Given the description of an element on the screen output the (x, y) to click on. 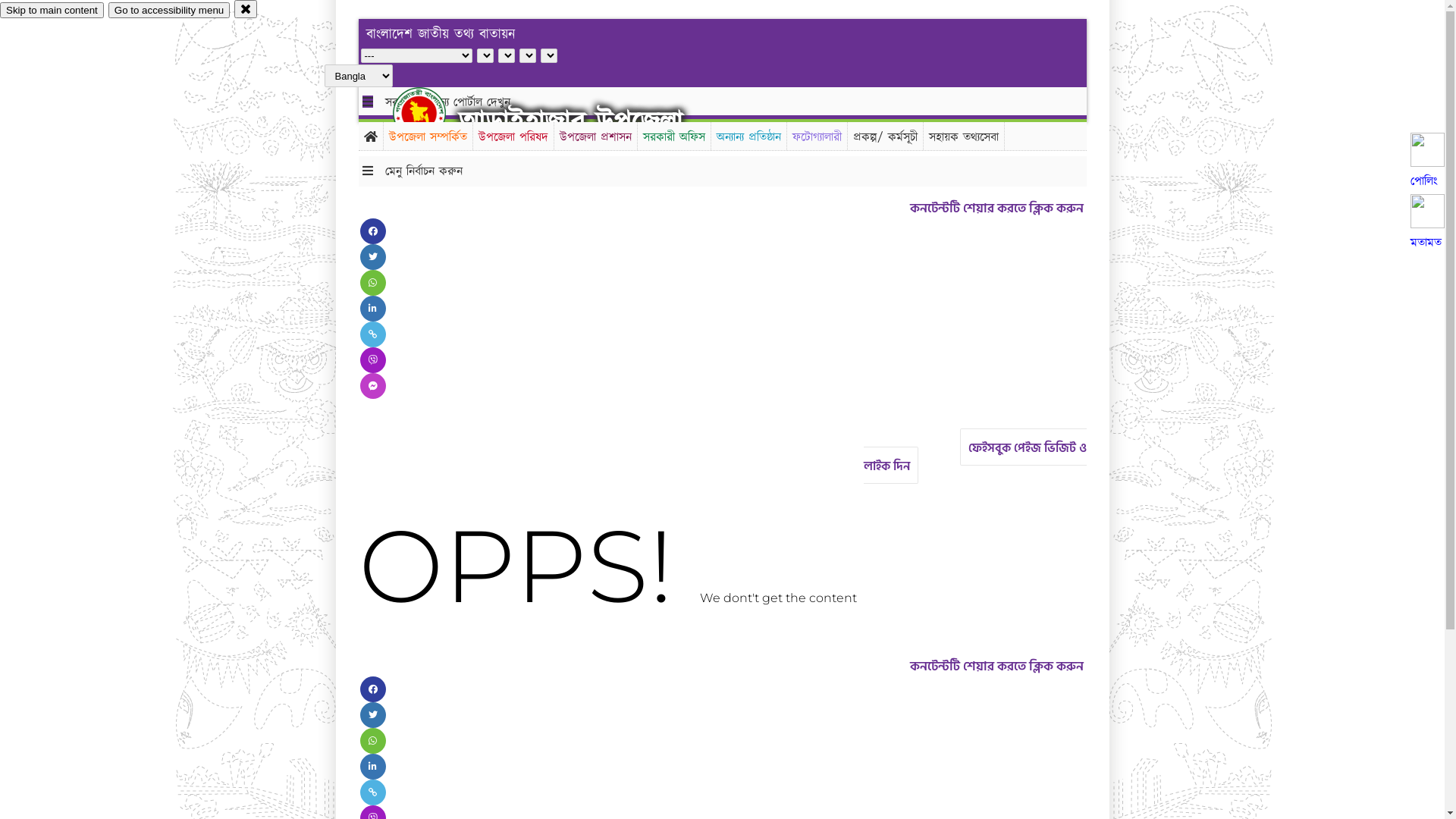

                
             Element type: hover (431, 112)
close Element type: hover (245, 9)
Skip to main content Element type: text (51, 10)
Go to accessibility menu Element type: text (168, 10)
